Given the description of an element on the screen output the (x, y) to click on. 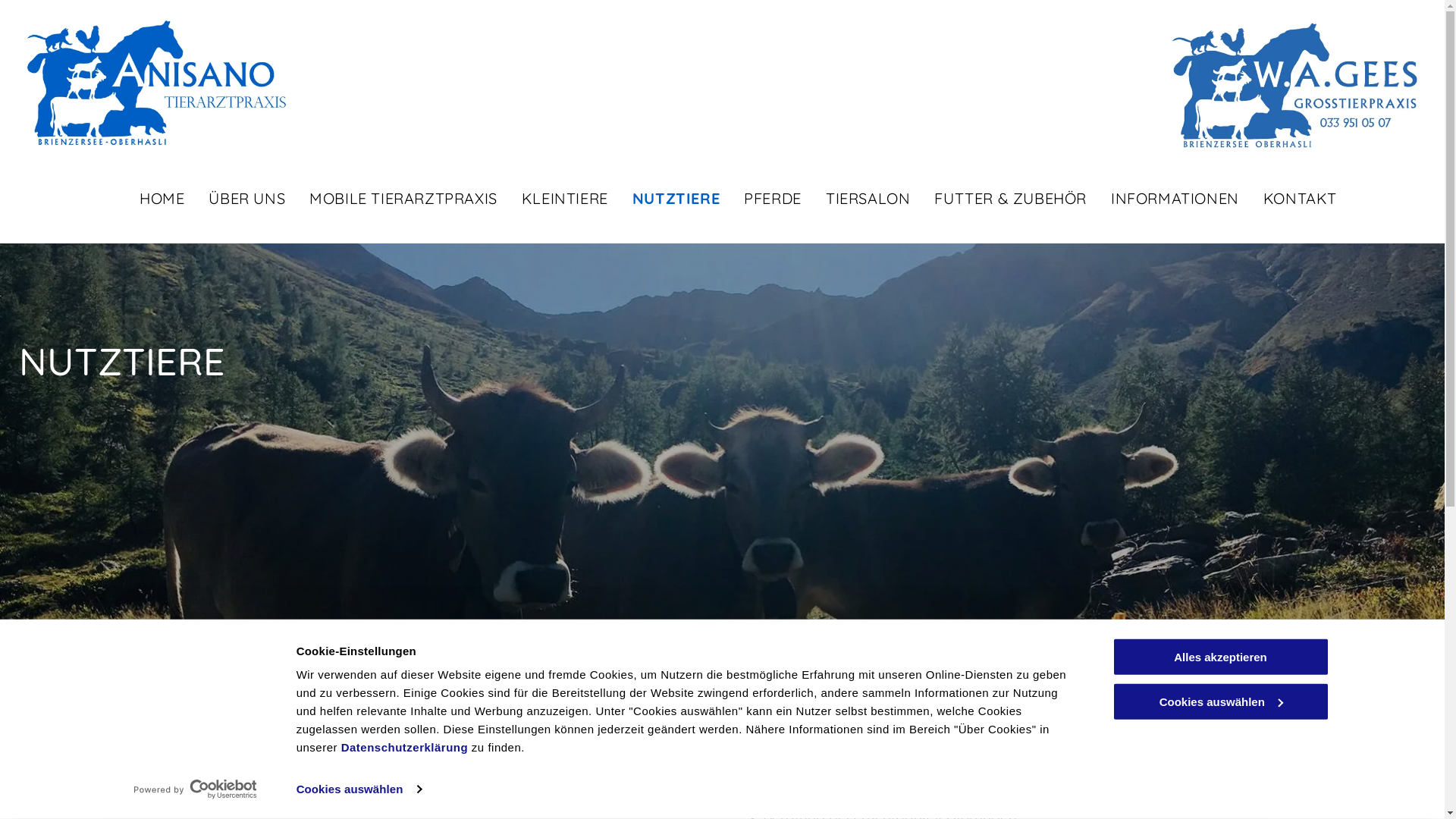
PFERDE Element type: text (760, 200)
HOME Element type: text (149, 200)
Alles akzeptieren Element type: text (1219, 656)
TIERSALON Element type: text (855, 200)
KONTAKT Element type: text (1287, 200)
MOBILE TIERARZTPRAXIS Element type: text (391, 200)
NUTZTIERE Element type: text (663, 200)
KLEINTIERE Element type: text (552, 200)
INFORMATIONEN Element type: text (1162, 200)
